Given the description of an element on the screen output the (x, y) to click on. 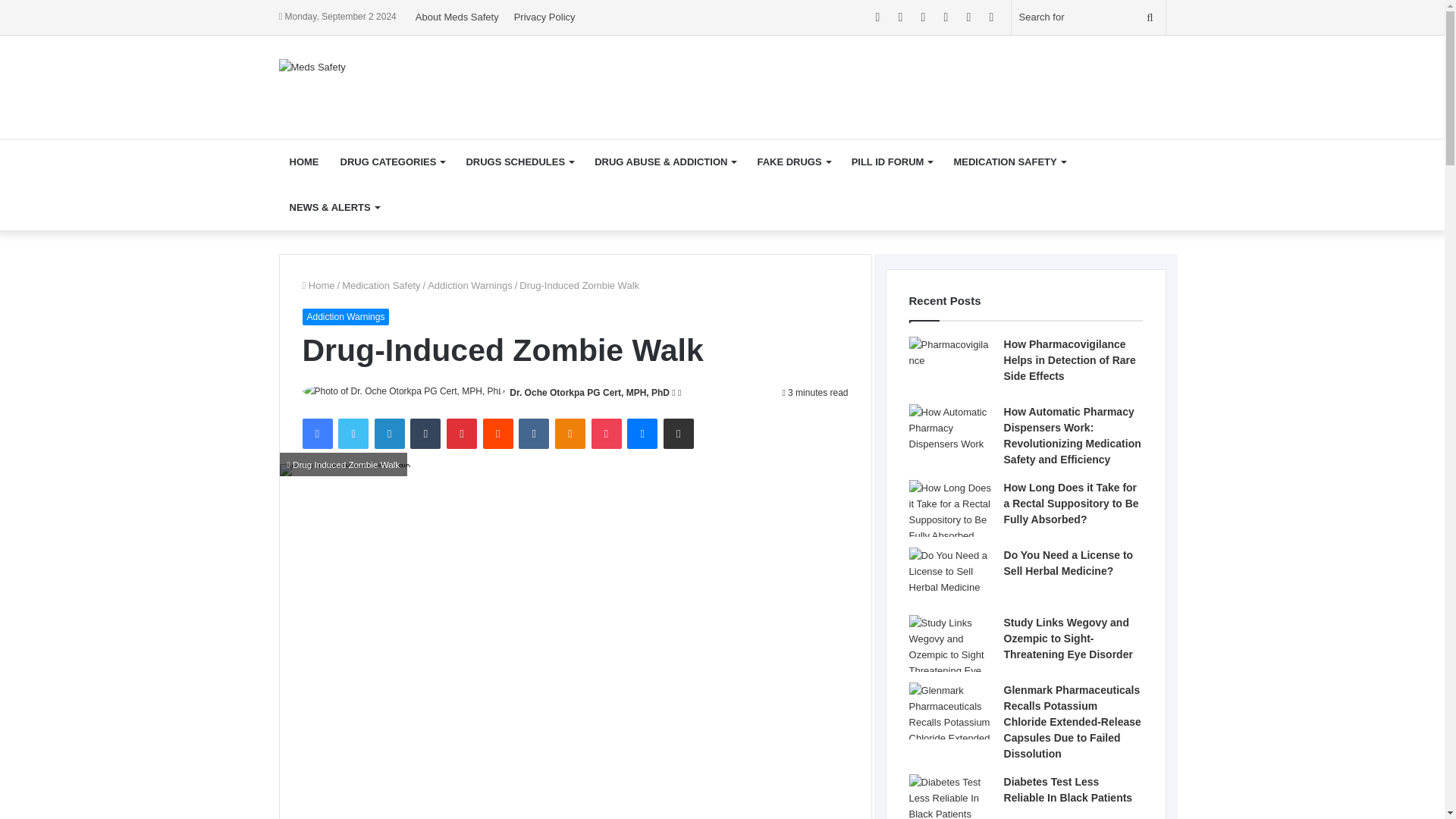
Facebook (316, 433)
Search for (1088, 17)
HOME (304, 162)
Tumblr (425, 433)
Twitter (352, 433)
Meds Safety (312, 65)
Privacy Policy (544, 17)
About Meds Safety (456, 17)
DRUG CATEGORIES (391, 162)
DRUGS SCHEDULES (518, 162)
